Given the description of an element on the screen output the (x, y) to click on. 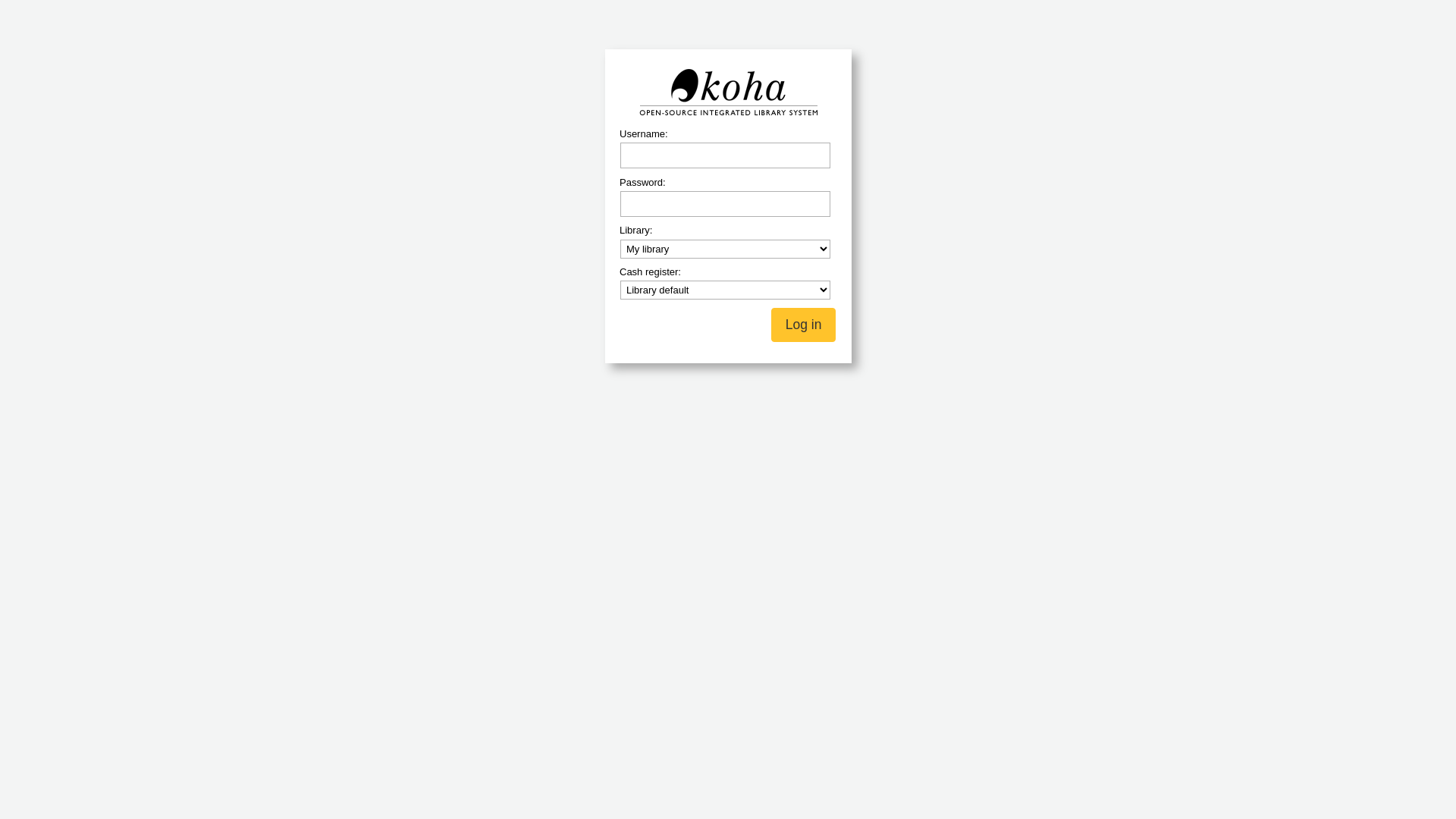
Log in Element type: text (803, 324)
Koha Element type: text (727, 91)
